Given the description of an element on the screen output the (x, y) to click on. 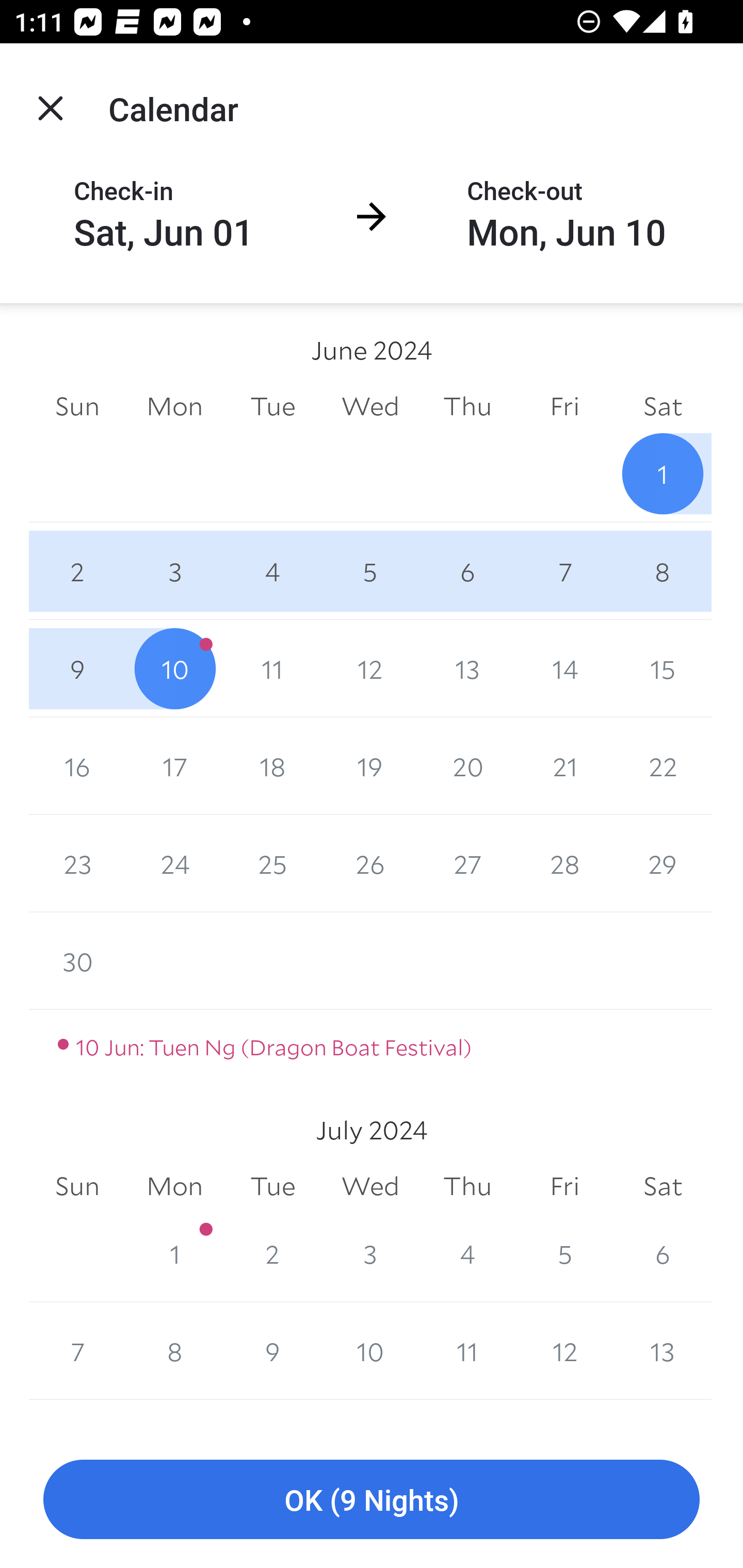
Sun (77, 405)
Mon (174, 405)
Tue (272, 405)
Wed (370, 405)
Thu (467, 405)
Fri (564, 405)
Sat (662, 405)
1 1 June 2024 (662, 473)
2 2 June 2024 (77, 570)
3 3 June 2024 (174, 570)
4 4 June 2024 (272, 570)
5 5 June 2024 (370, 570)
6 6 June 2024 (467, 570)
7 7 June 2024 (564, 570)
8 8 June 2024 (662, 570)
9 9 June 2024 (77, 668)
10 10 June 2024 (174, 668)
11 11 June 2024 (272, 668)
12 12 June 2024 (370, 668)
13 13 June 2024 (467, 668)
14 14 June 2024 (564, 668)
15 15 June 2024 (662, 668)
16 16 June 2024 (77, 766)
17 17 June 2024 (174, 766)
18 18 June 2024 (272, 766)
19 19 June 2024 (370, 766)
20 20 June 2024 (467, 766)
21 21 June 2024 (564, 766)
22 22 June 2024 (662, 766)
23 23 June 2024 (77, 863)
24 24 June 2024 (174, 863)
25 25 June 2024 (272, 863)
26 26 June 2024 (370, 863)
27 27 June 2024 (467, 863)
28 28 June 2024 (564, 863)
29 29 June 2024 (662, 863)
30 30 June 2024 (77, 960)
Sun (77, 1186)
Mon (174, 1186)
Tue (272, 1186)
Wed (370, 1186)
Thu (467, 1186)
Fri (564, 1186)
Sat (662, 1186)
1 1 July 2024 (174, 1253)
2 2 July 2024 (272, 1253)
3 3 July 2024 (370, 1253)
4 4 July 2024 (467, 1253)
5 5 July 2024 (564, 1253)
6 6 July 2024 (662, 1253)
7 7 July 2024 (77, 1351)
8 8 July 2024 (174, 1351)
9 9 July 2024 (272, 1351)
10 10 July 2024 (370, 1351)
11 11 July 2024 (467, 1351)
12 12 July 2024 (564, 1351)
13 13 July 2024 (662, 1351)
OK (9 Nights) (371, 1499)
